Given the description of an element on the screen output the (x, y) to click on. 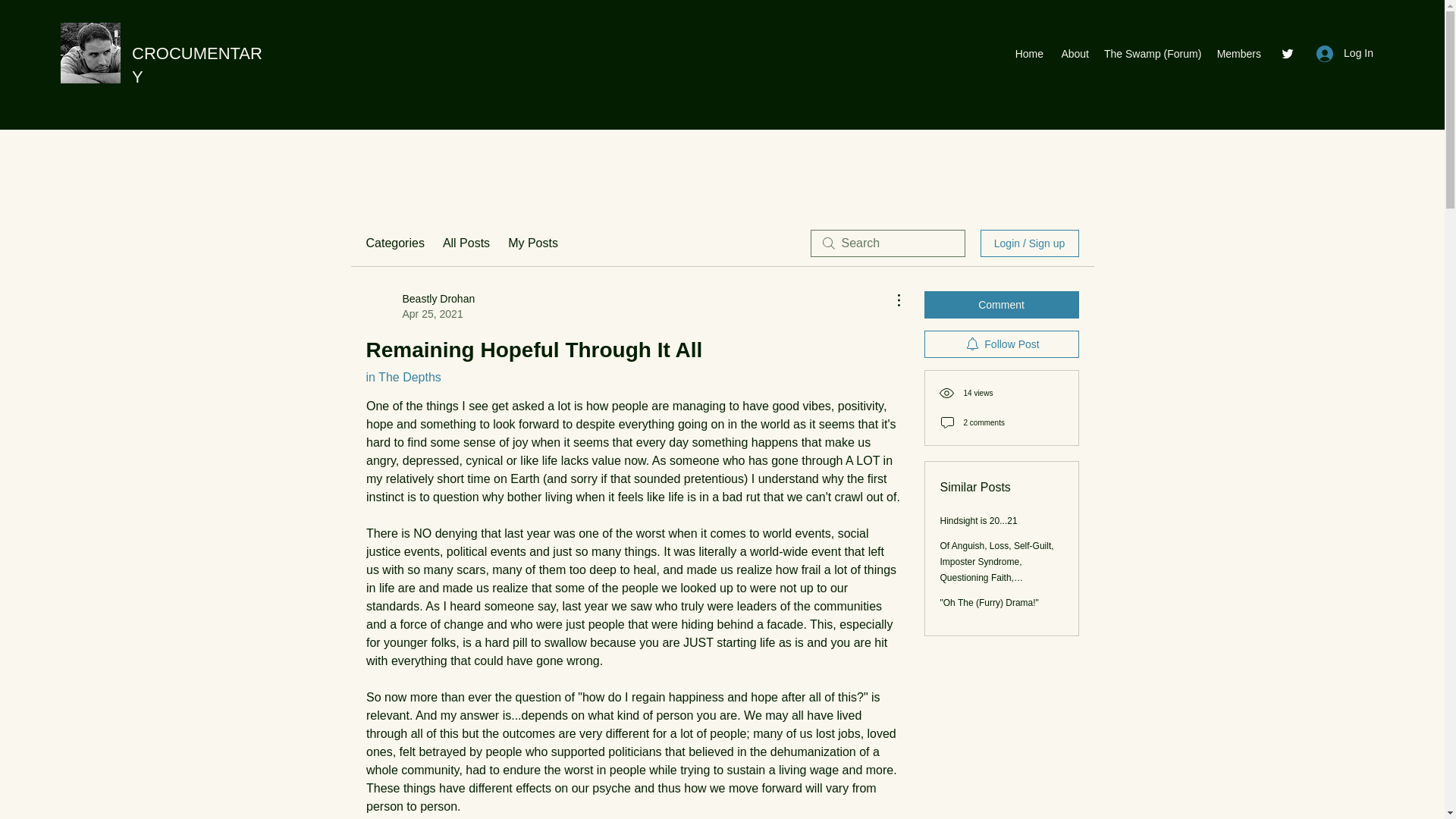
Comment (1000, 304)
Hindsight is 20...21 (978, 520)
in The Depths (403, 377)
My Posts (532, 243)
Categories (394, 243)
CROCUMENTARY (197, 65)
Home (1029, 53)
About (1073, 53)
Members (1238, 53)
Follow Post (1000, 343)
Log In (1345, 53)
All Posts (465, 243)
